Given the description of an element on the screen output the (x, y) to click on. 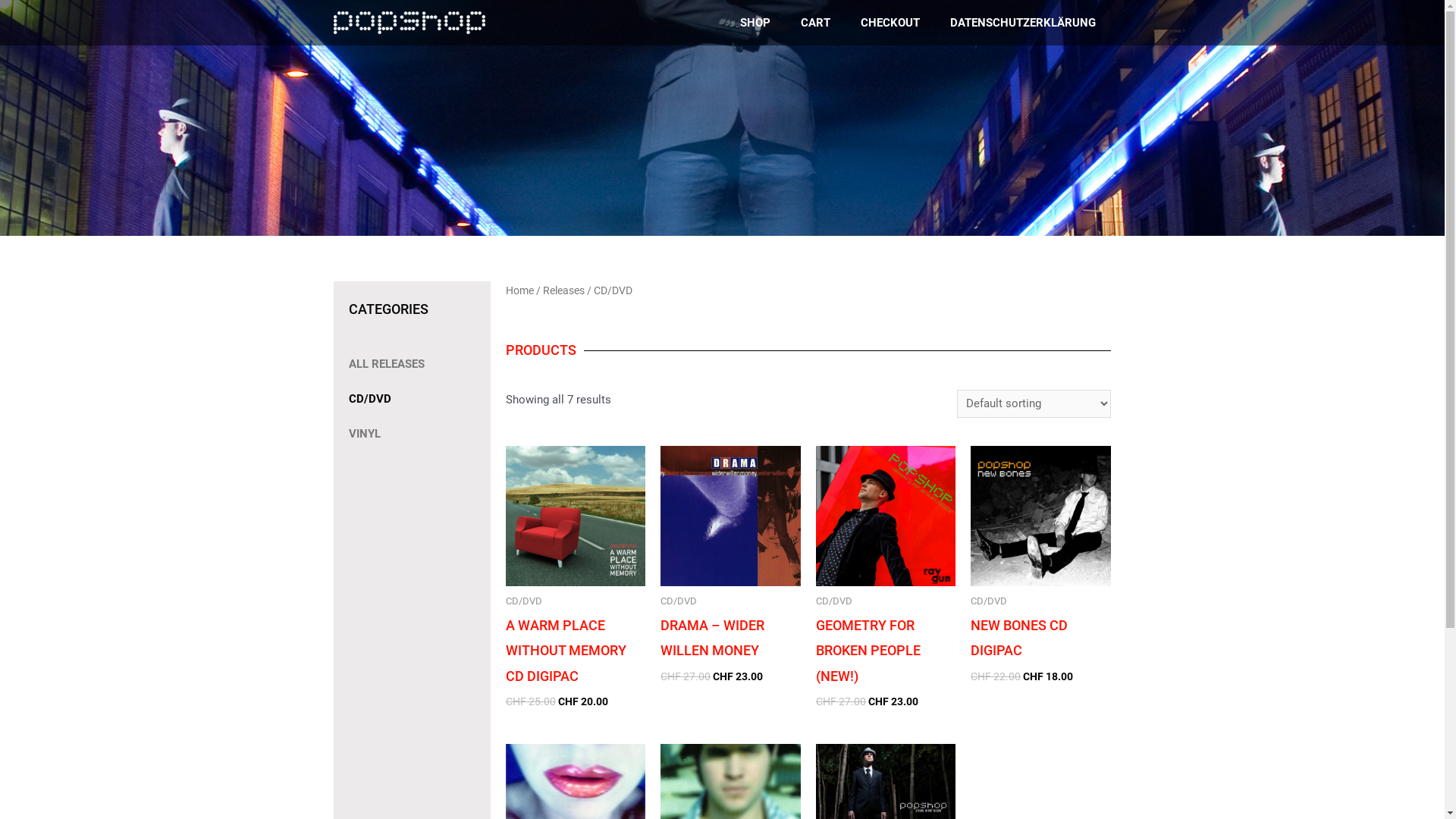
VINYL Element type: text (404, 433)
Home Element type: text (519, 290)
CD/DVD Element type: text (404, 398)
SHOP Element type: text (754, 22)
CHECKOUT Element type: text (890, 22)
A WARM PLACE WITHOUT MEMORY CD DIGIPAC Element type: text (575, 650)
GEOMETRY FOR BROKEN PEOPLE (NEW!) Element type: text (885, 650)
CART Element type: text (815, 22)
ALL RELEASES Element type: text (404, 363)
NEW BONES CD DIGIPAC Element type: text (1040, 637)
Releases Element type: text (563, 290)
